Given the description of an element on the screen output the (x, y) to click on. 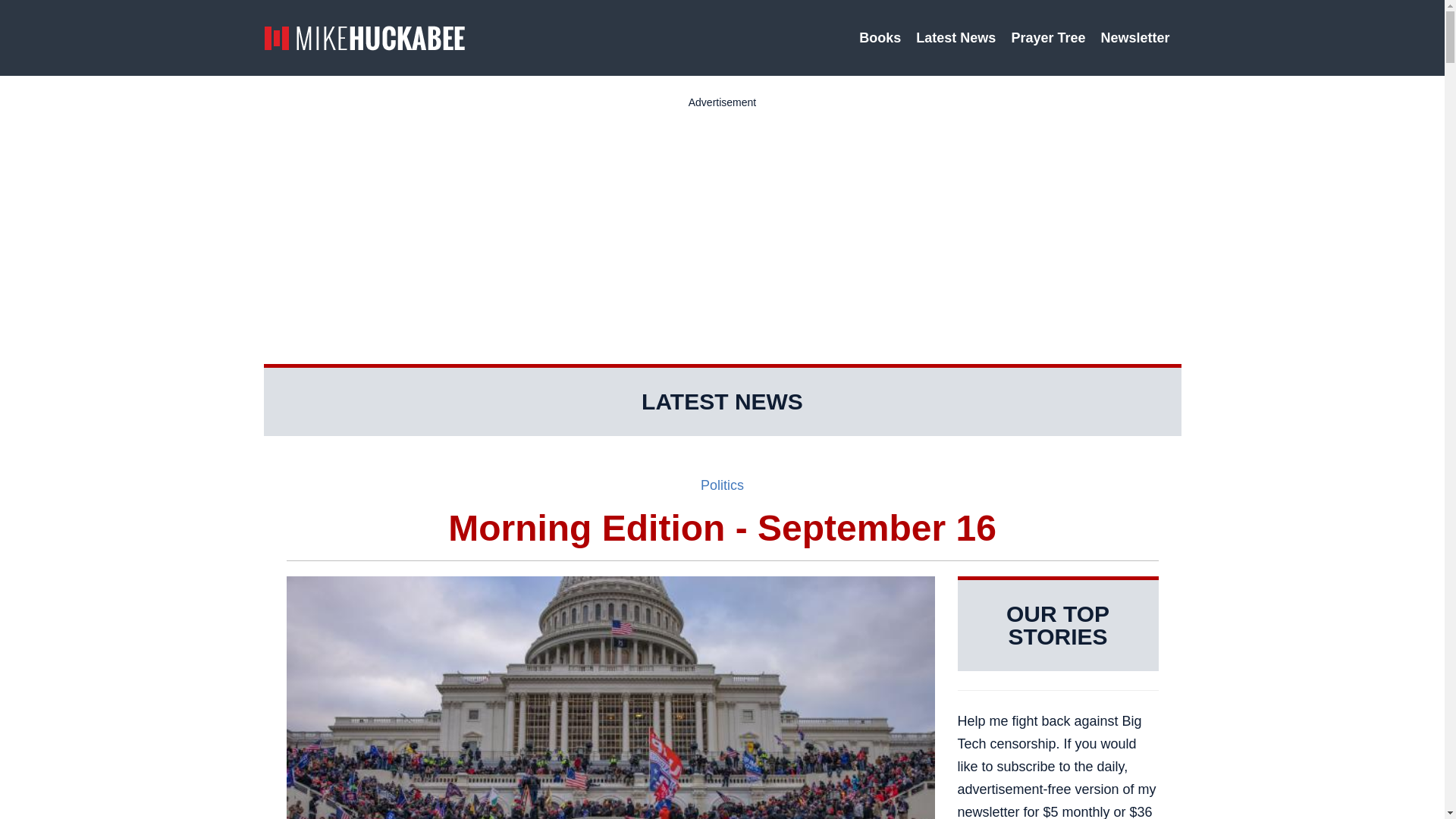
Newsletter (1136, 38)
Prayer Tree (1048, 38)
Morning Edition - September 16 (722, 528)
Politics (722, 485)
Latest News (955, 38)
